Given the description of an element on the screen output the (x, y) to click on. 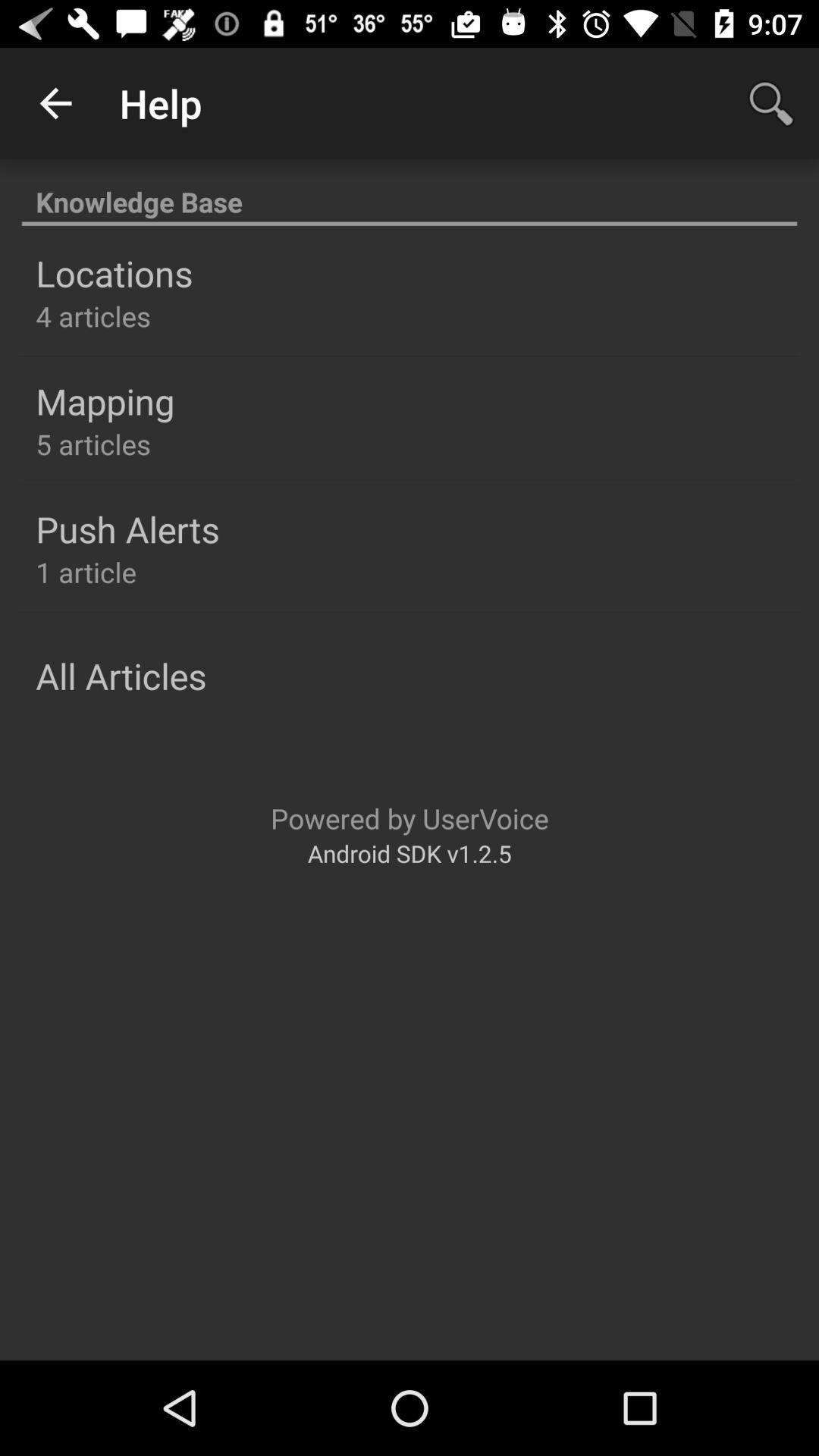
choose icon below the knowledge base icon (113, 273)
